Given the description of an element on the screen output the (x, y) to click on. 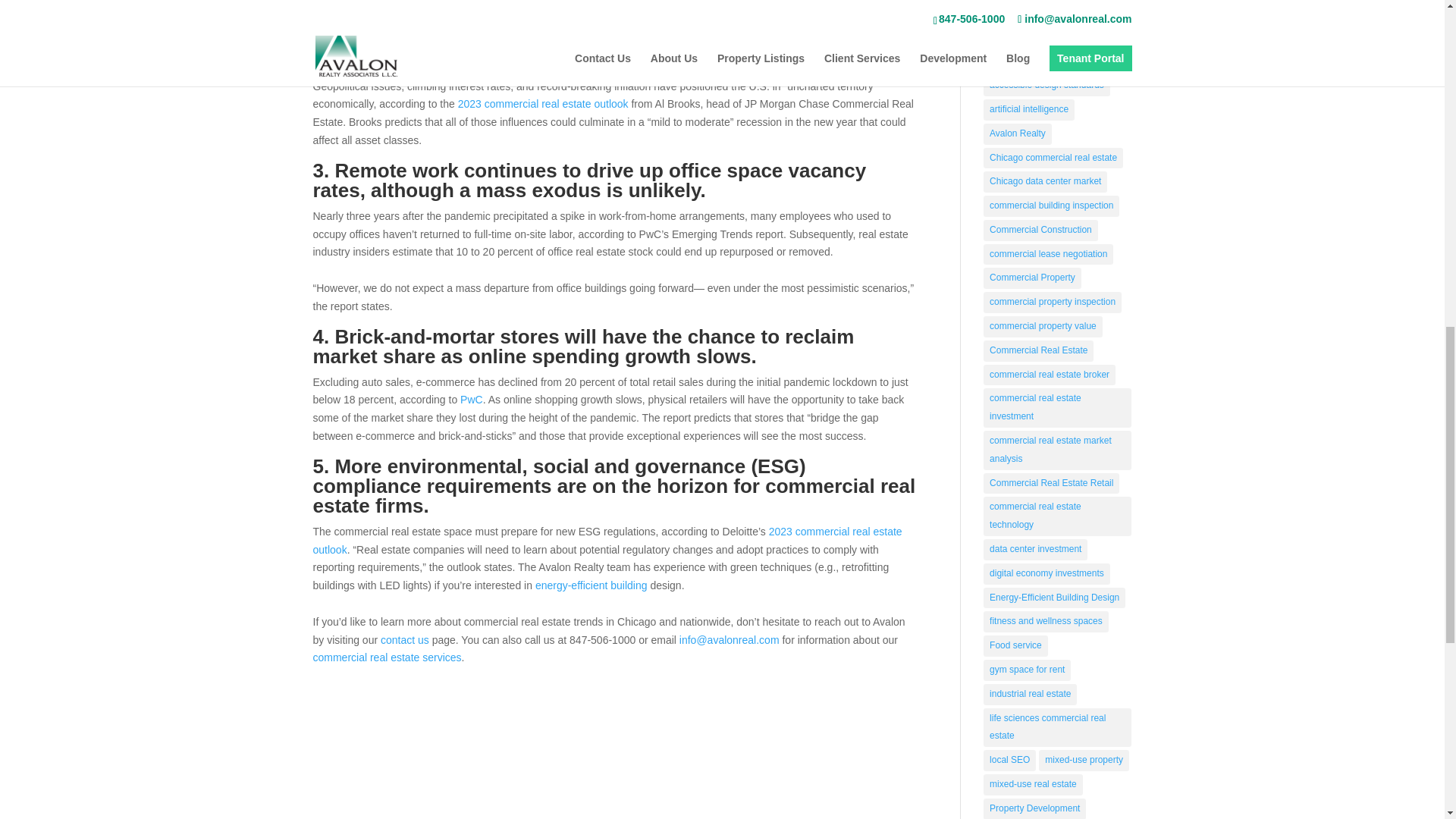
commercial real estate services (387, 657)
PwC (471, 399)
2023 commercial real estate outlook (607, 540)
2023 commercial real estate outlook (543, 103)
energy-efficient building (591, 585)
accessible construction (1036, 61)
Uncategorized (1017, 2)
artificial intelligence (1029, 109)
contact us (404, 639)
accessible design standards (1046, 85)
